Given the description of an element on the screen output the (x, y) to click on. 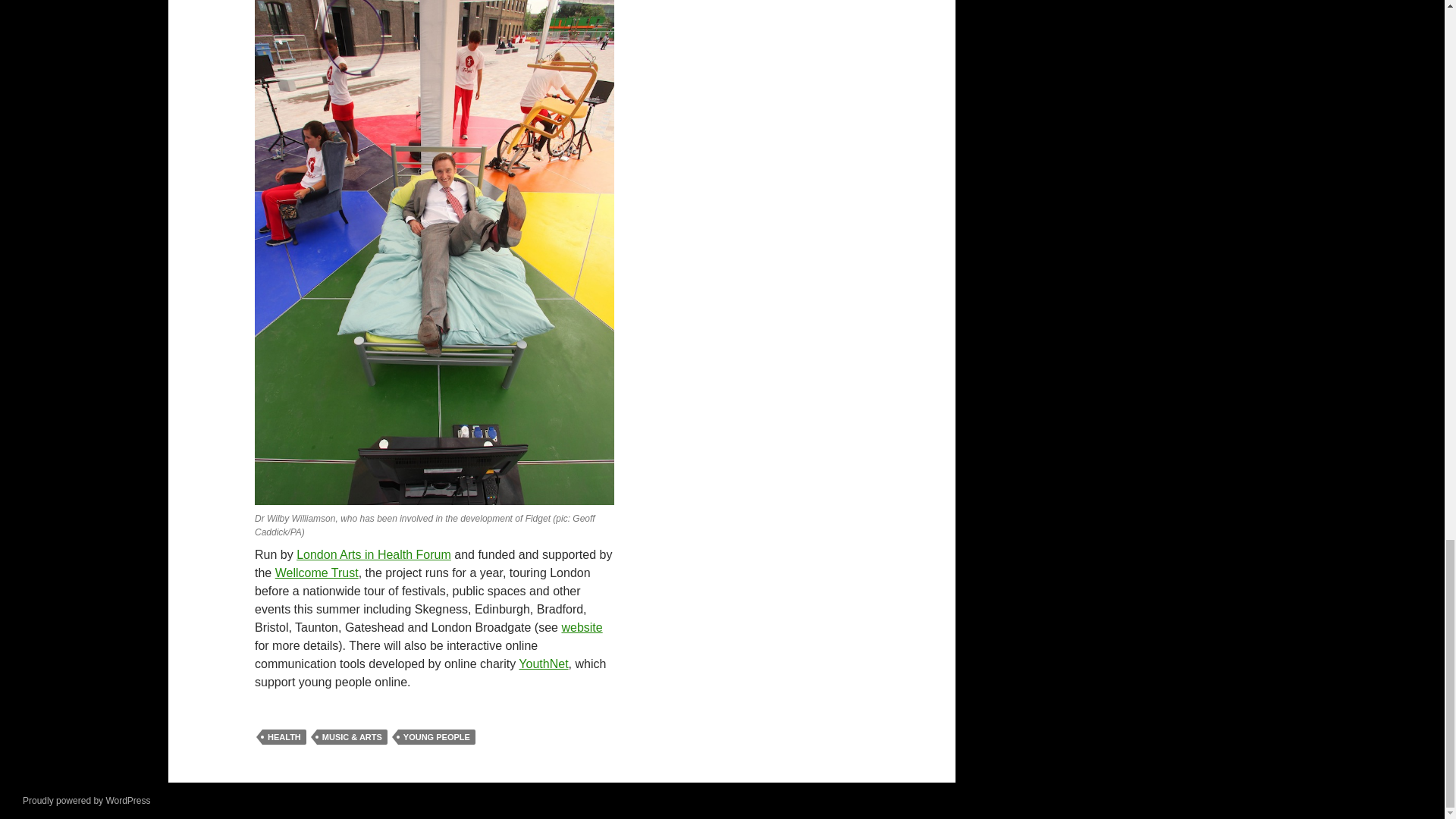
website (581, 626)
London Arts in Health Forum (374, 554)
HEALTH (283, 736)
Wellcome Trust (316, 572)
YOUNG PEOPLE (436, 736)
YouthNet (542, 663)
